Given the description of an element on the screen output the (x, y) to click on. 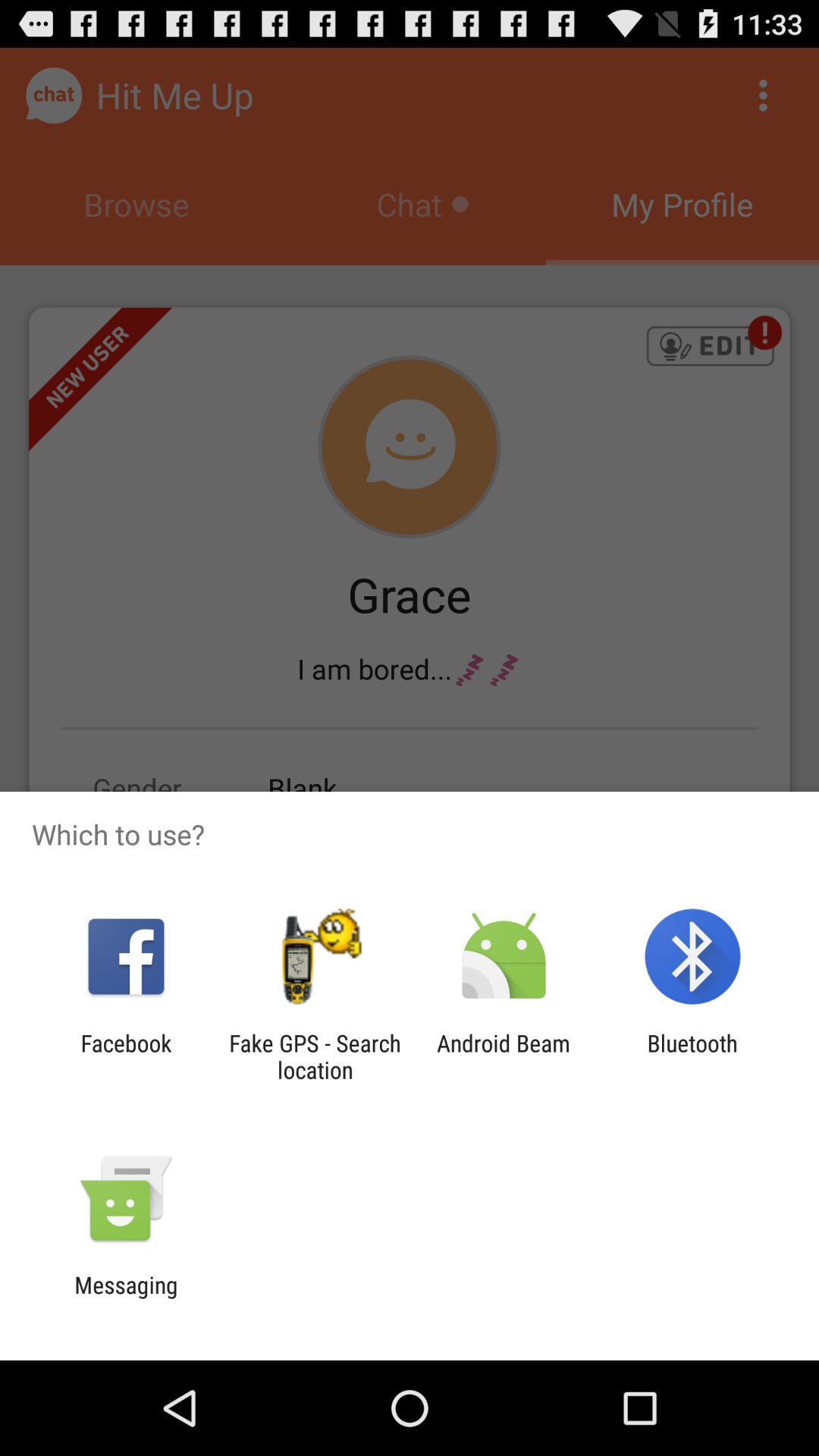
launch the app to the right of facebook app (314, 1056)
